Given the description of an element on the screen output the (x, y) to click on. 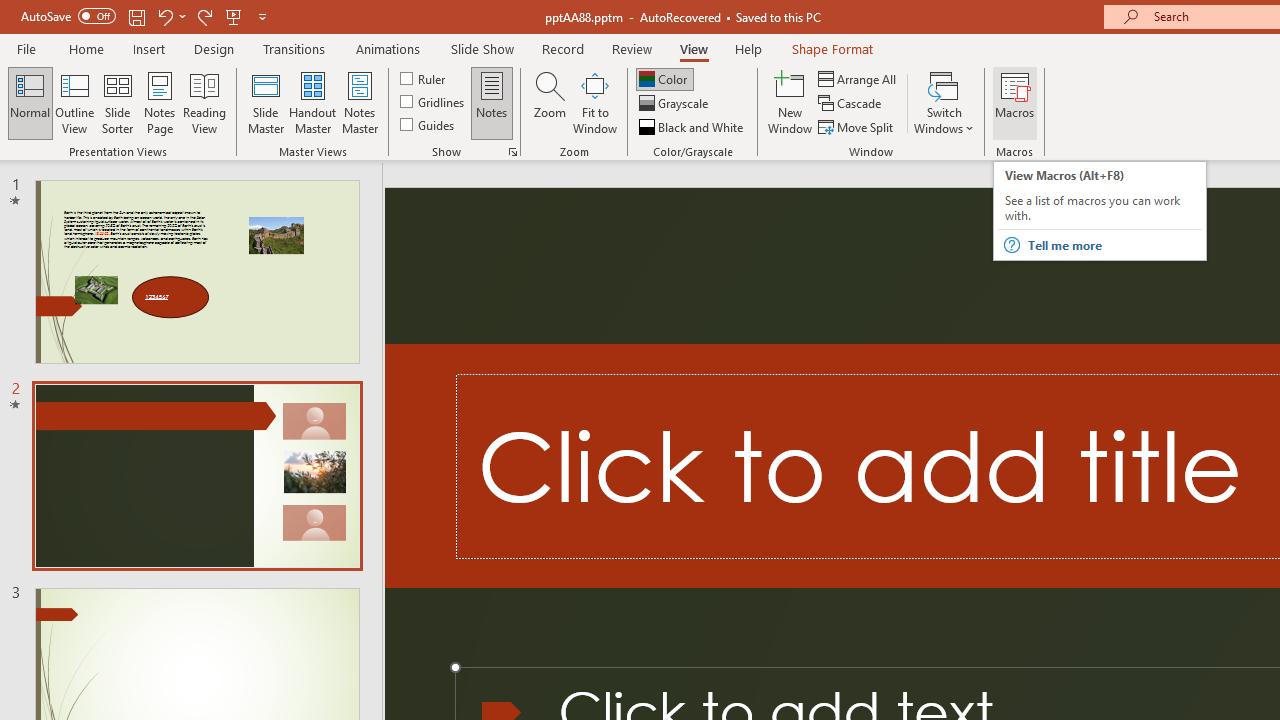
Notes (492, 102)
Grayscale (675, 103)
Notes Page (159, 102)
Gridlines (433, 101)
Outline View (74, 102)
Grid Settings... (512, 151)
